Given the description of an element on the screen output the (x, y) to click on. 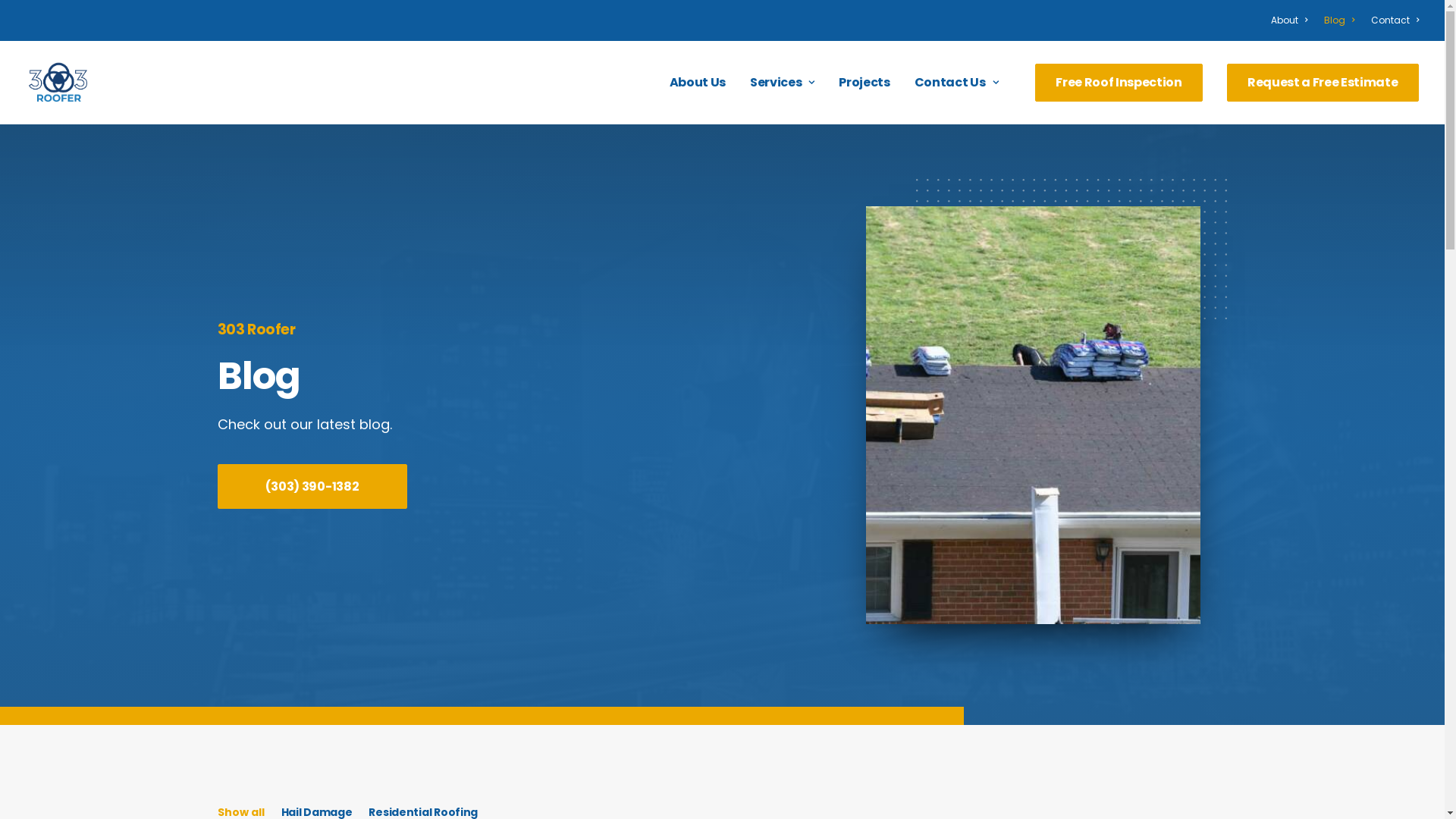
About Us Element type: text (697, 82)
Request a Free Estimate Element type: text (1317, 82)
Free Roof Inspection Element type: text (1124, 82)
Contact Us Element type: text (950, 82)
Projects Element type: text (864, 82)
Hail Damage Element type: text (315, 811)
Blog Element type: text (1339, 20)
(303) 390-1382 Element type: text (311, 486)
About Element type: text (1292, 20)
Contact Element type: text (1391, 20)
Show all Element type: text (239, 811)
Services Element type: text (782, 82)
Residential Roofing Element type: text (422, 811)
